Given the description of an element on the screen output the (x, y) to click on. 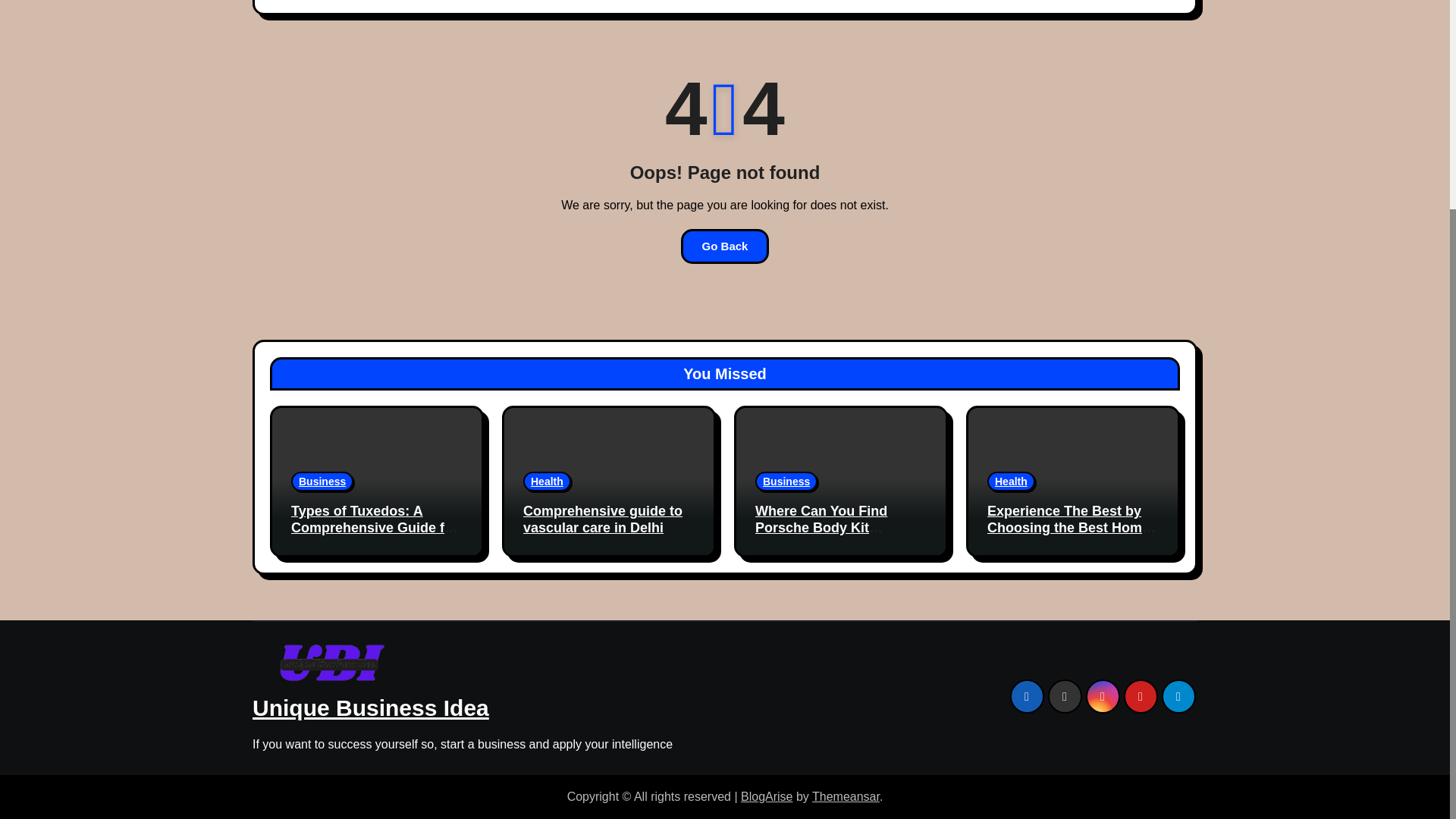
Business (322, 481)
Home (286, 1)
Go Back (725, 246)
Types of Tuxedos: A Comprehensive Guide for Every Occasion (374, 527)
Comprehensive guide to vascular care in Delhi (602, 519)
Health (546, 481)
Permalink to: Comprehensive guide to vascular care in Delhi (602, 519)
